Given the description of an element on the screen output the (x, y) to click on. 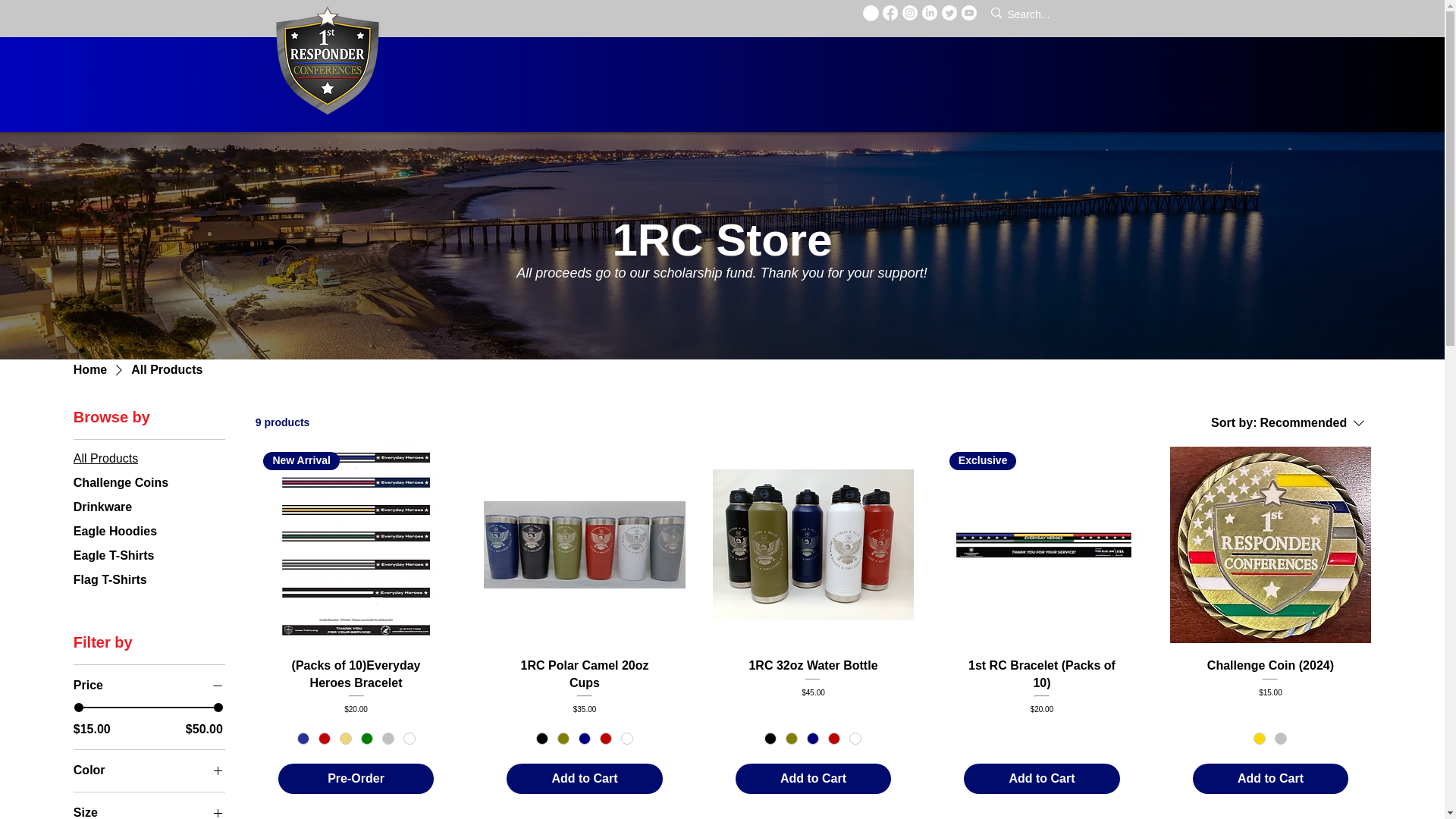
All Products (106, 458)
Challenge Coins (121, 482)
Size (149, 811)
Home (90, 369)
Price (149, 685)
Flag T-Shirts (110, 580)
New Arrival (356, 544)
Drinkware (103, 507)
Eagle Hoodies (115, 531)
Eagle T-Shirts (114, 555)
Color (1287, 422)
